Given the description of an element on the screen output the (x, y) to click on. 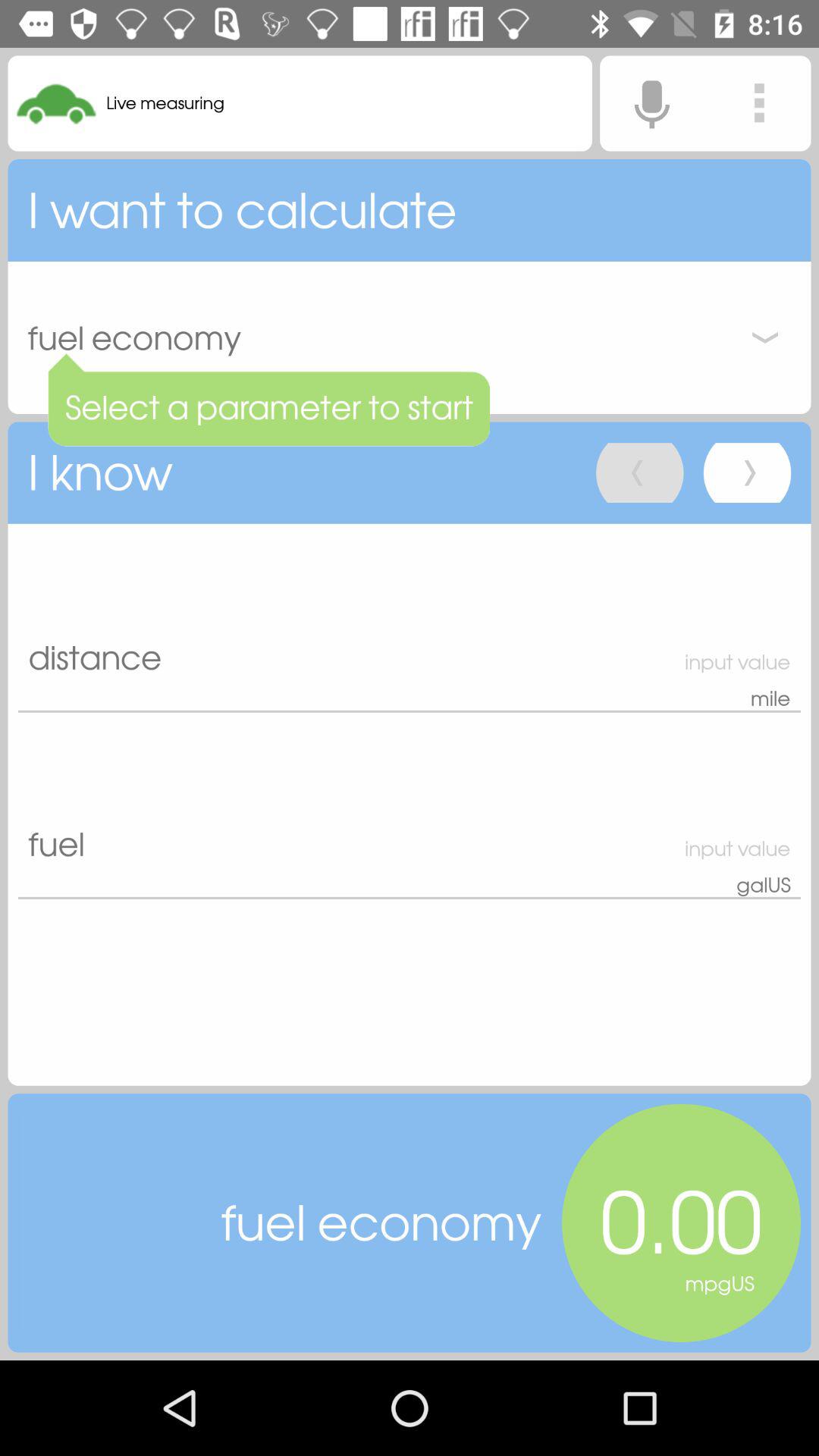
go to previous (639, 472)
